Given the description of an element on the screen output the (x, y) to click on. 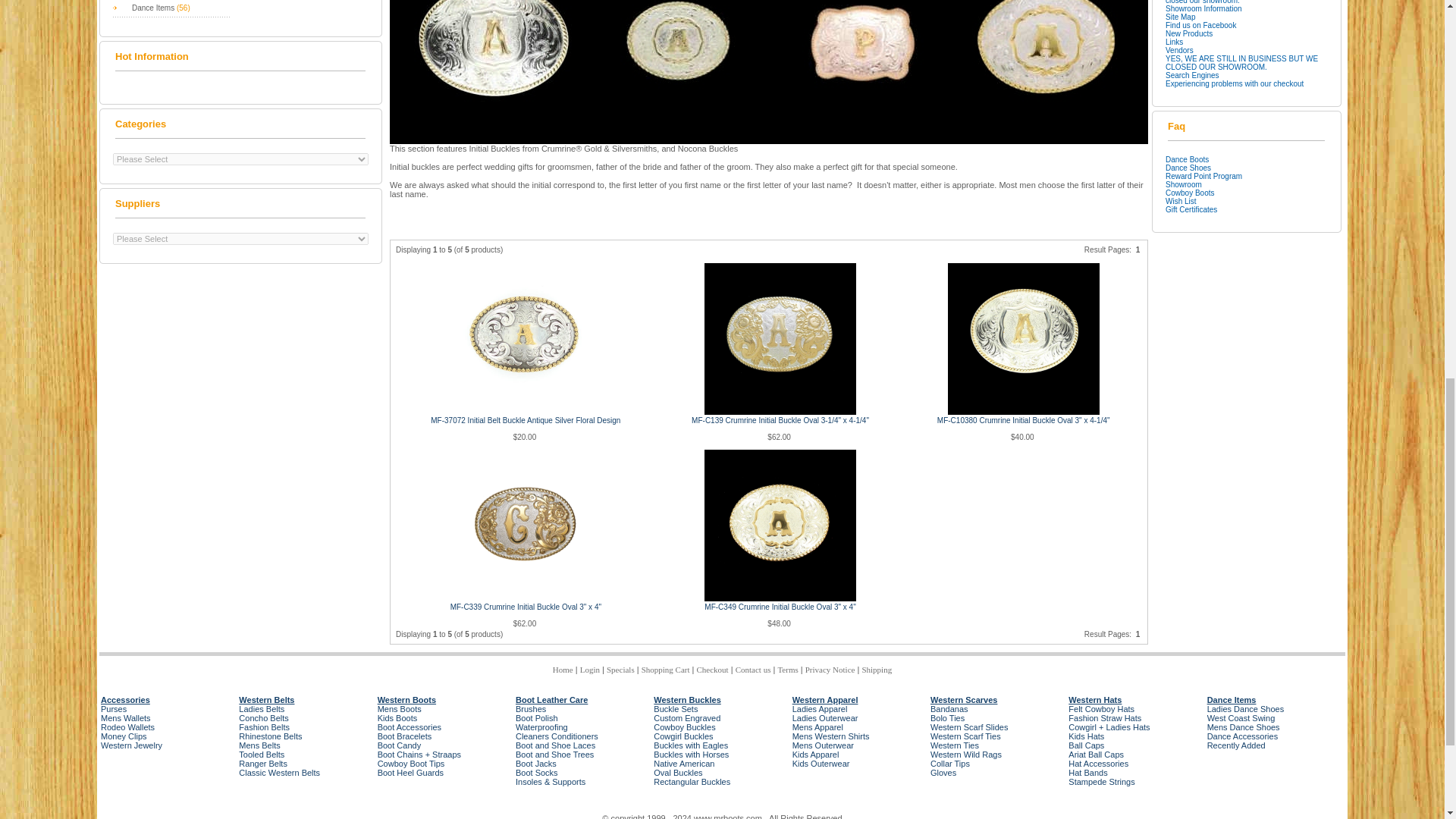
Accessories (124, 699)
Money Clips (123, 736)
 MF-37072 Initial Belt Buckle Antique Silver Floral Design  (525, 338)
 MF-C349 Crumrine Initial Buckle Oval 3" x 4"  (780, 525)
Western Belts for Ladies, Men and Kids (266, 699)
Ladies Belts (260, 708)
Western Jewelry (130, 745)
Rodeo Wallets (127, 727)
Mens Wallets (125, 717)
Purses (113, 708)
 Initial Buckles  (769, 72)
 MF-C339 Crumrine Initial Buckle Oval 3" x 4"  (525, 525)
